Given the description of an element on the screen output the (x, y) to click on. 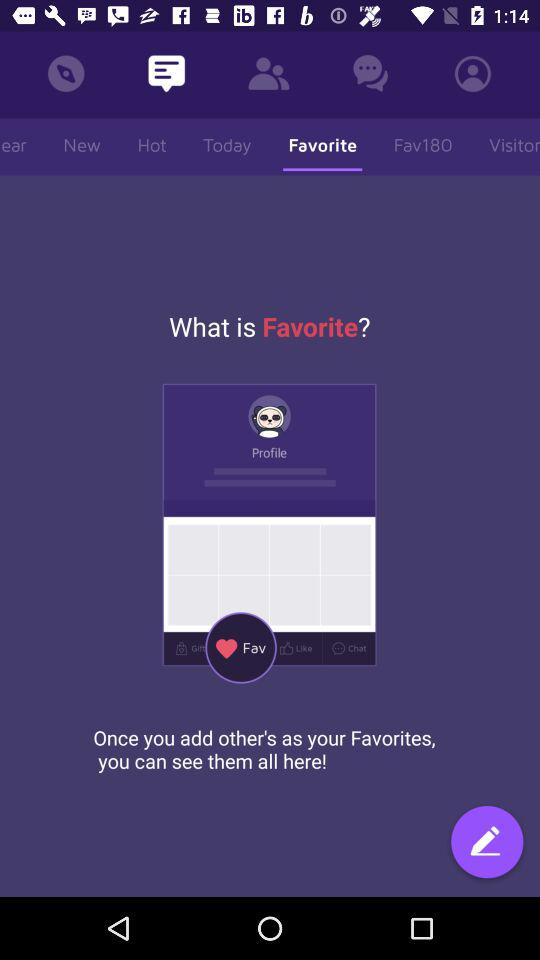
type in (487, 844)
